Given the description of an element on the screen output the (x, y) to click on. 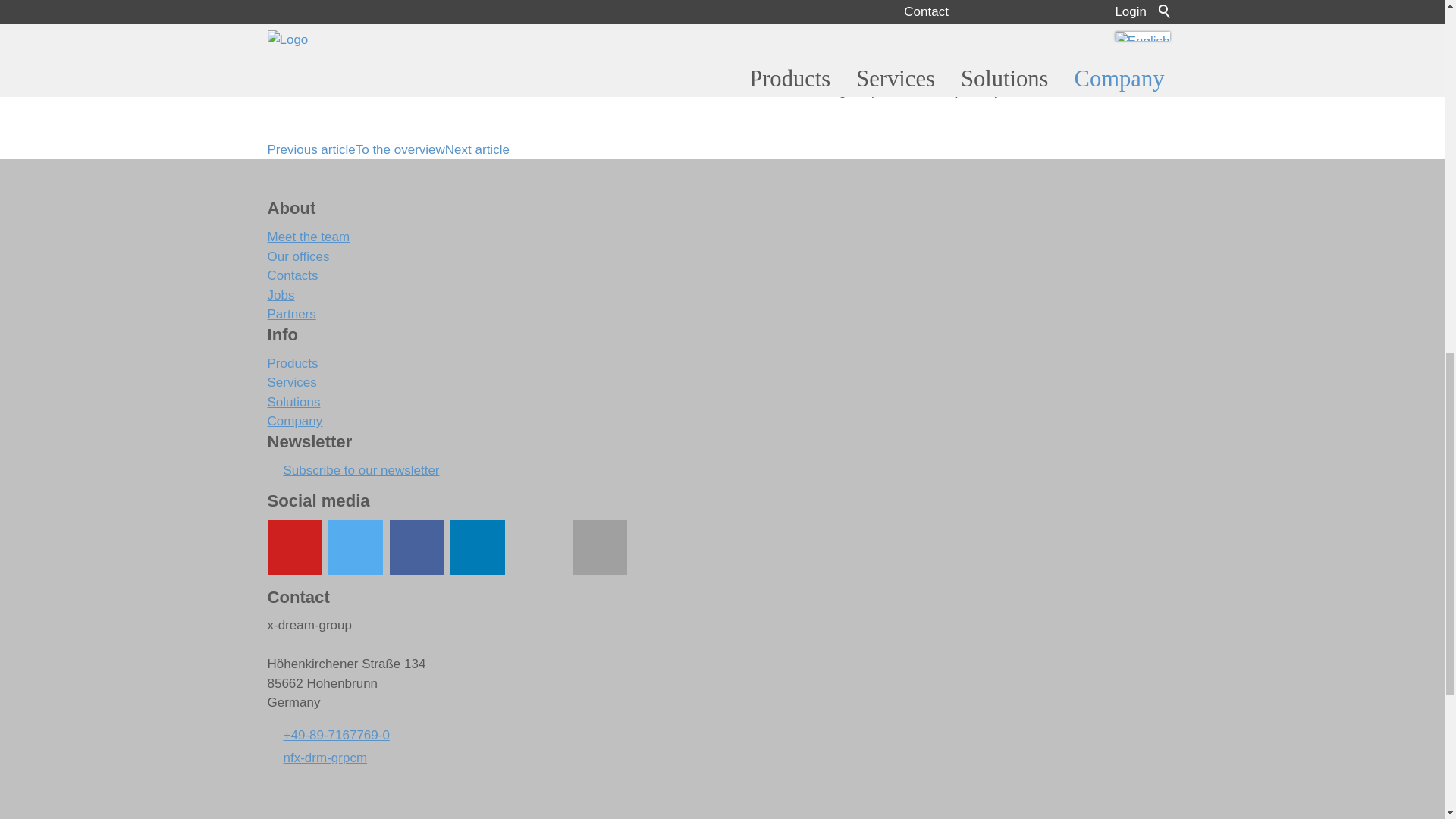
Email Address (316, 757)
LinkedIn (477, 547)
Follow us on Twitter (355, 547)
Wir bei Xing (538, 547)
Follow us on Facebook (417, 547)
Kontaktformular (599, 547)
YouTube (293, 547)
